Given the description of an element on the screen output the (x, y) to click on. 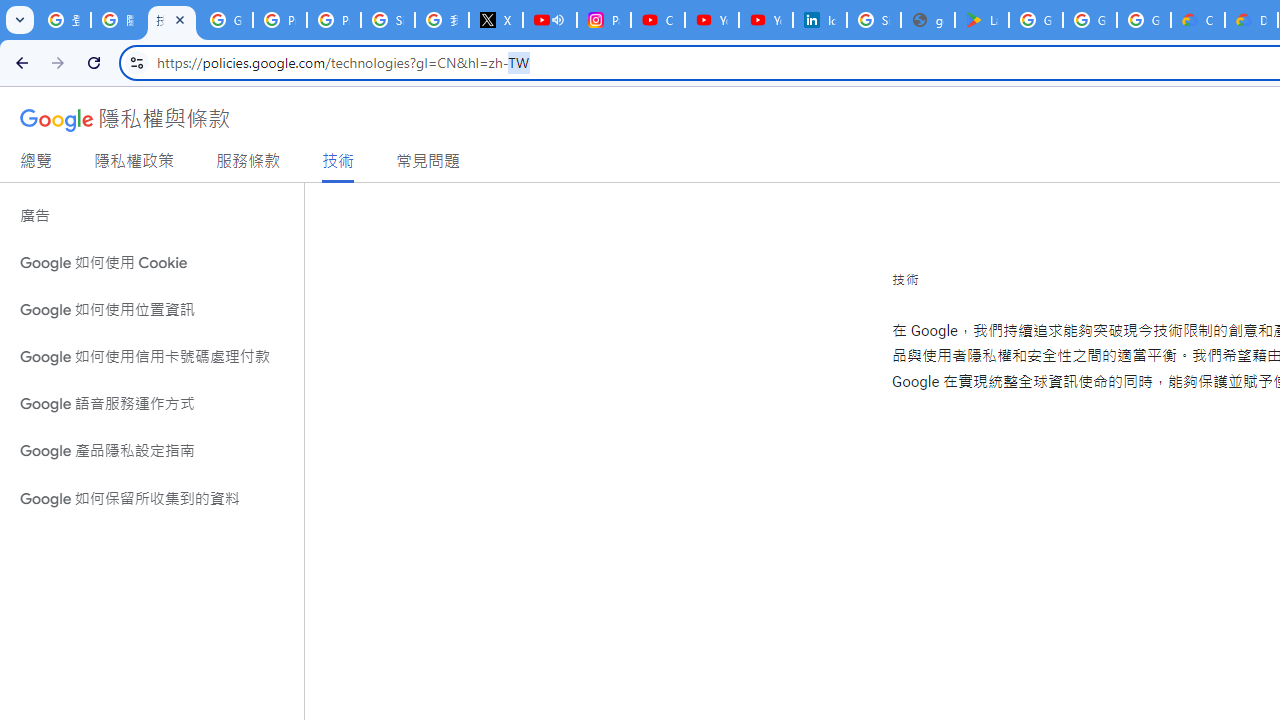
Sign in - Google Accounts (387, 20)
Privacy Help Center - Policies Help (280, 20)
google_privacy_policy_en.pdf (927, 20)
Google Workspace - Specific Terms (1089, 20)
YouTube Culture & Trends - YouTube Top 10, 2021 (765, 20)
